Given the description of an element on the screen output the (x, y) to click on. 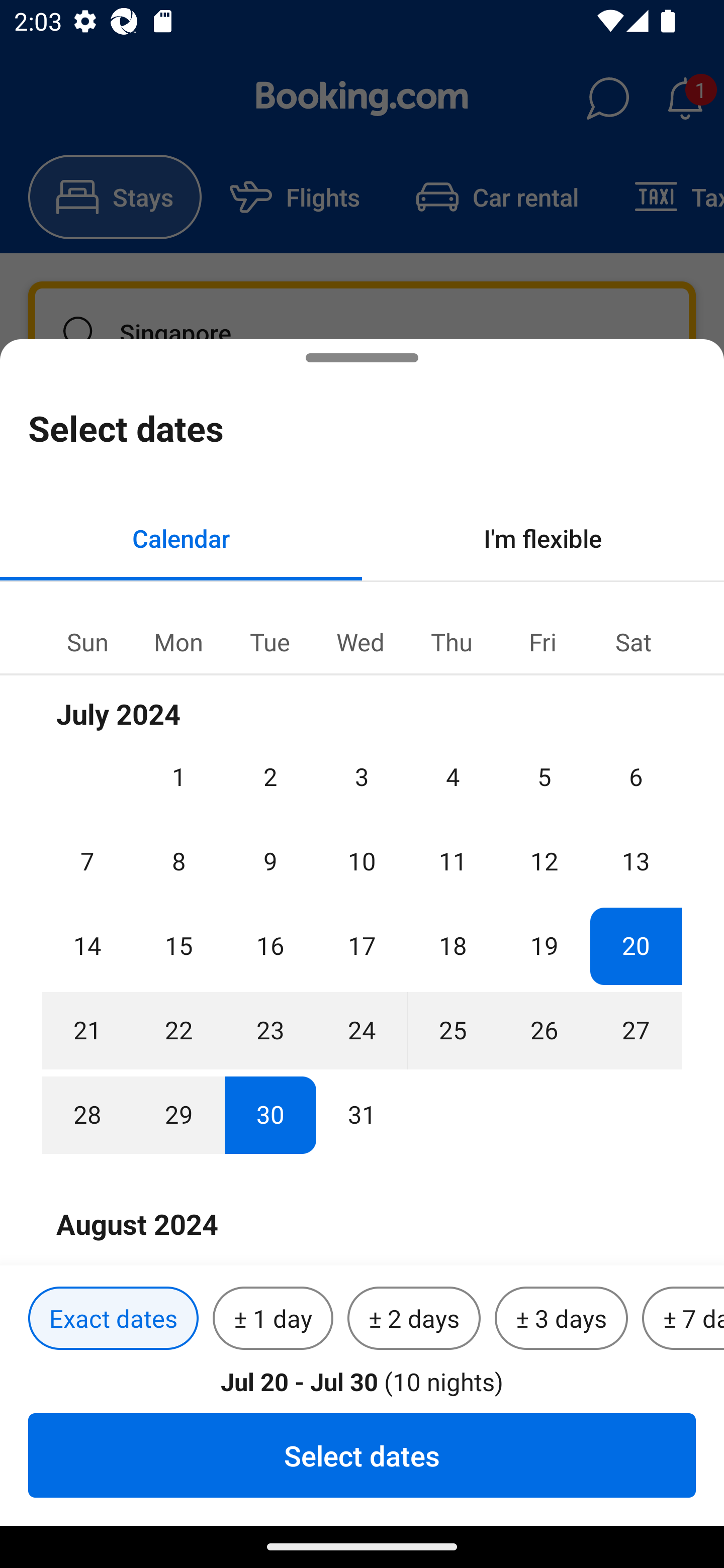
I'm flexible (543, 537)
Exact dates (113, 1318)
± 1 day (272, 1318)
± 2 days (413, 1318)
± 3 days (560, 1318)
± 7 days (683, 1318)
Select dates (361, 1454)
